Given the description of an element on the screen output the (x, y) to click on. 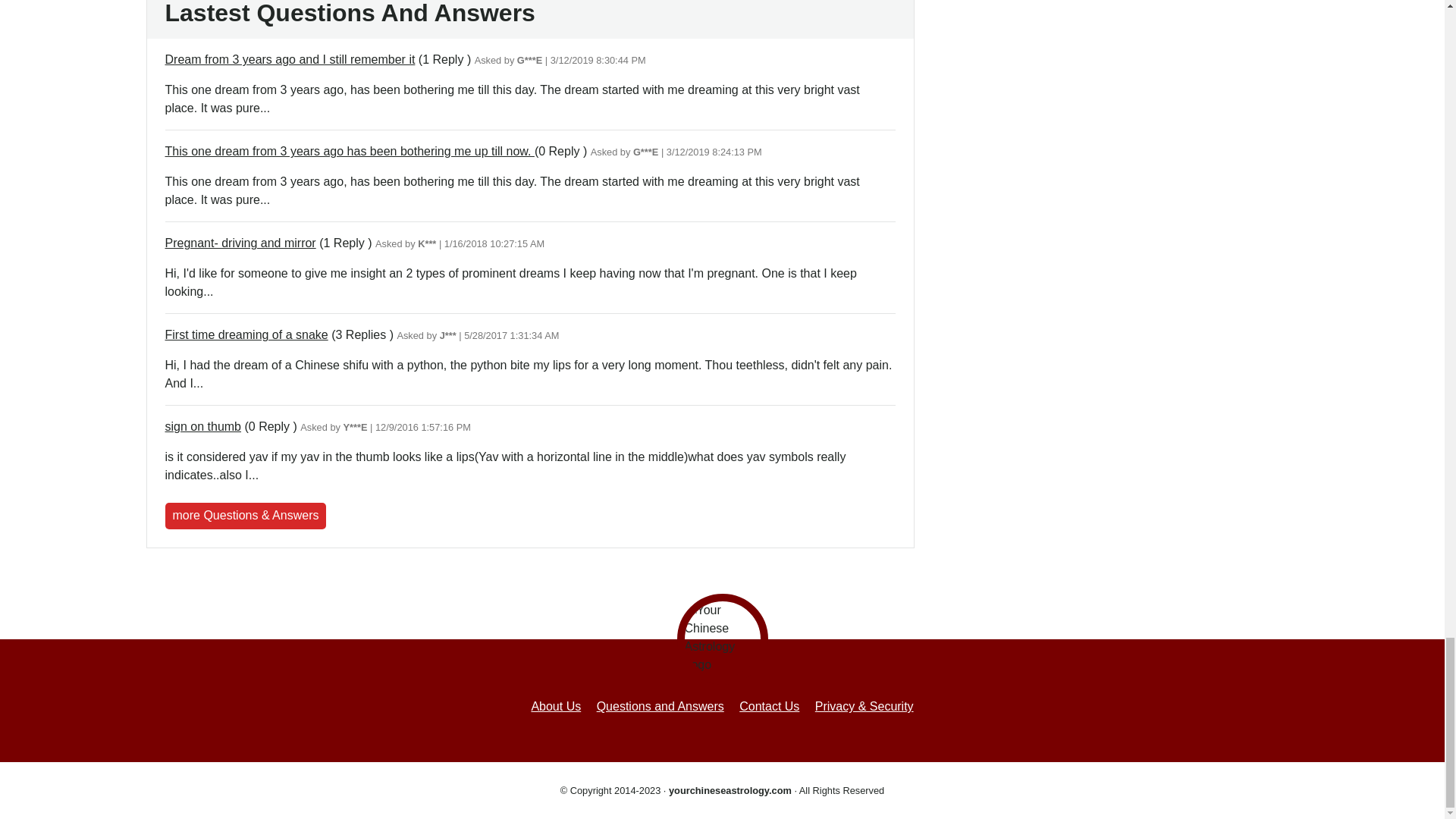
Dream from 3 years ago and I still remember it (289, 59)
Pregnant- driving and mirror (240, 242)
First time dreaming of a snake (247, 334)
sign on thumb (203, 426)
